Given the description of an element on the screen output the (x, y) to click on. 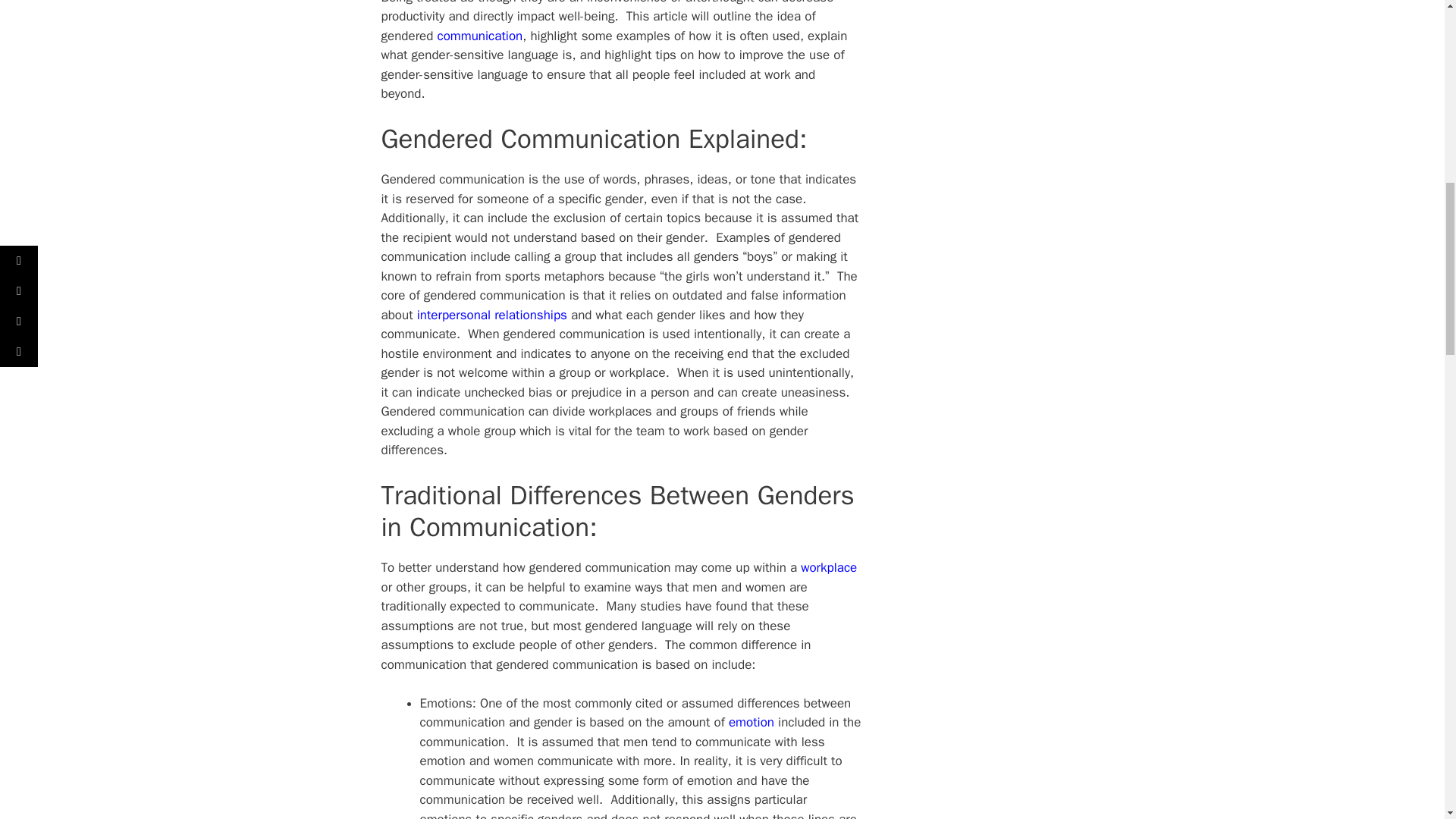
emotion (751, 722)
communication (480, 35)
workplace (828, 567)
interpersonal relationships (491, 314)
